Given the description of an element on the screen output the (x, y) to click on. 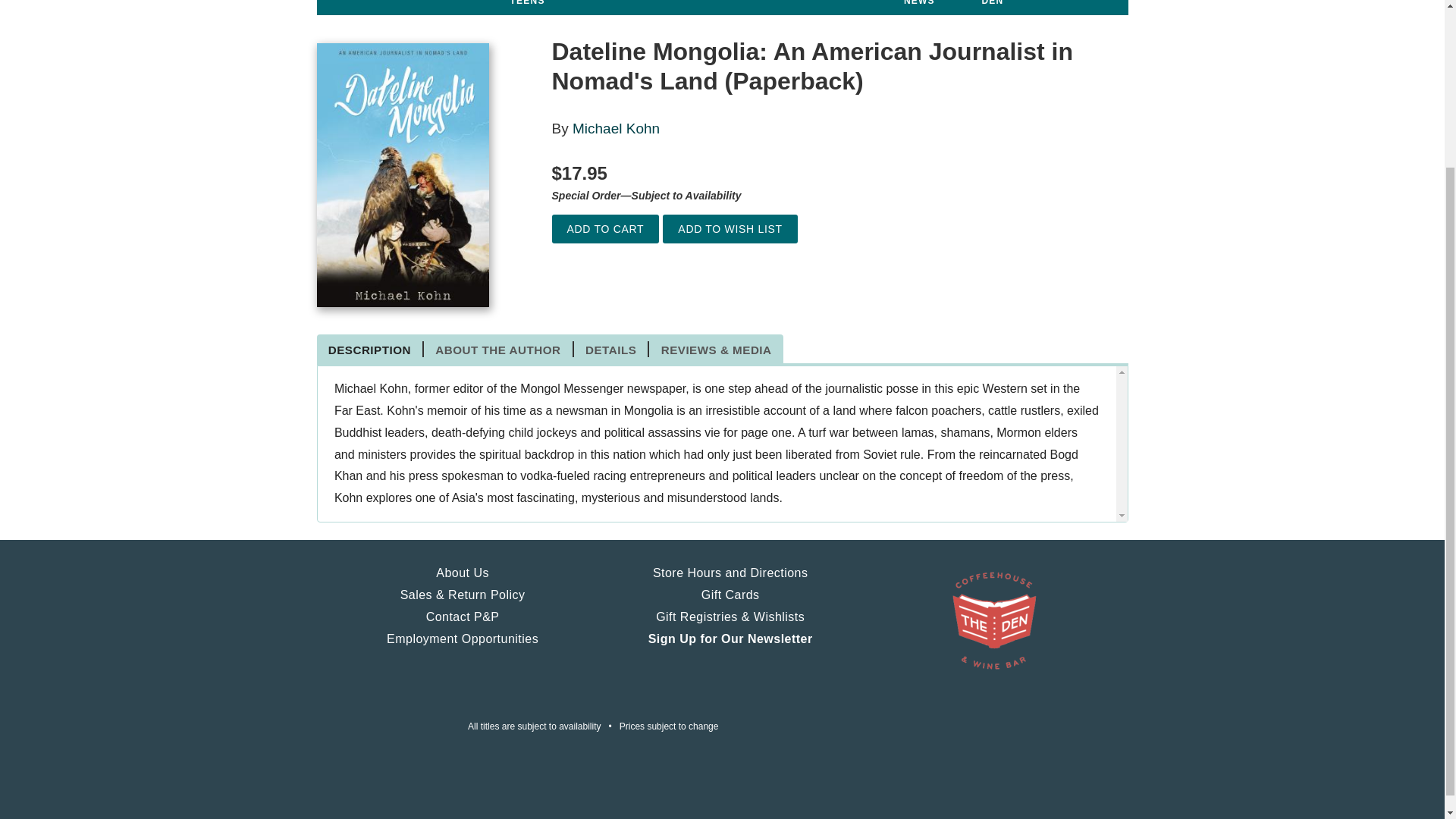
See information about our programs (633, 0)
PROGRAMS (633, 0)
ABOUT (343, 0)
BROWSE (398, 0)
See our event calendar (465, 0)
SUBSCRIPTIONS (722, 0)
Children and Teens Department (548, 7)
EVENTS (465, 0)
Browse our shelves (398, 0)
Add to Cart (605, 229)
